Given the description of an element on the screen output the (x, y) to click on. 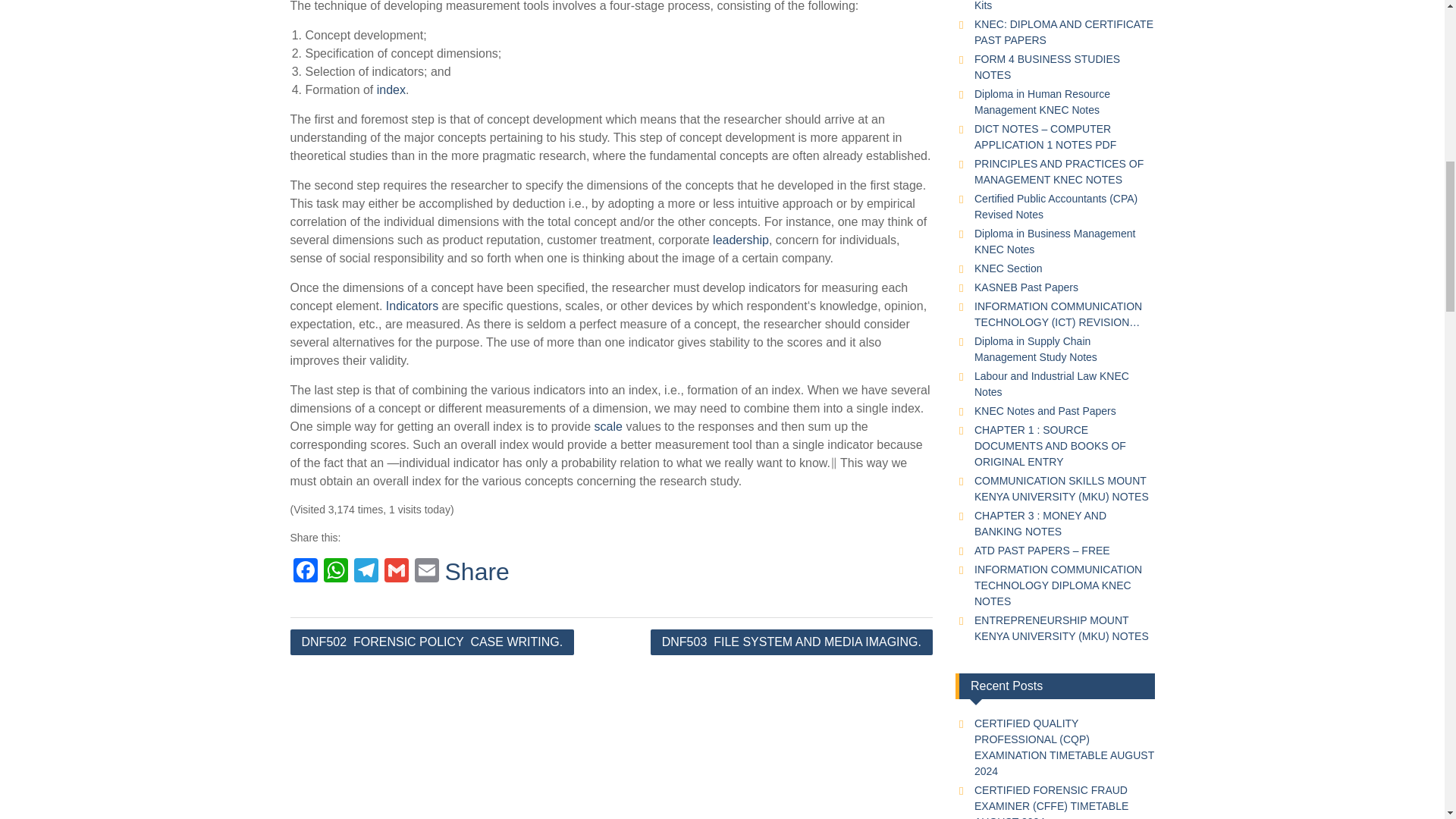
Telegram (365, 571)
WhatsApp (335, 571)
index (391, 89)
Indicators (411, 305)
leadership (740, 239)
Facebook (304, 571)
Email (425, 571)
Facebook (304, 571)
scale (608, 426)
Gmail (395, 571)
